Given the description of an element on the screen output the (x, y) to click on. 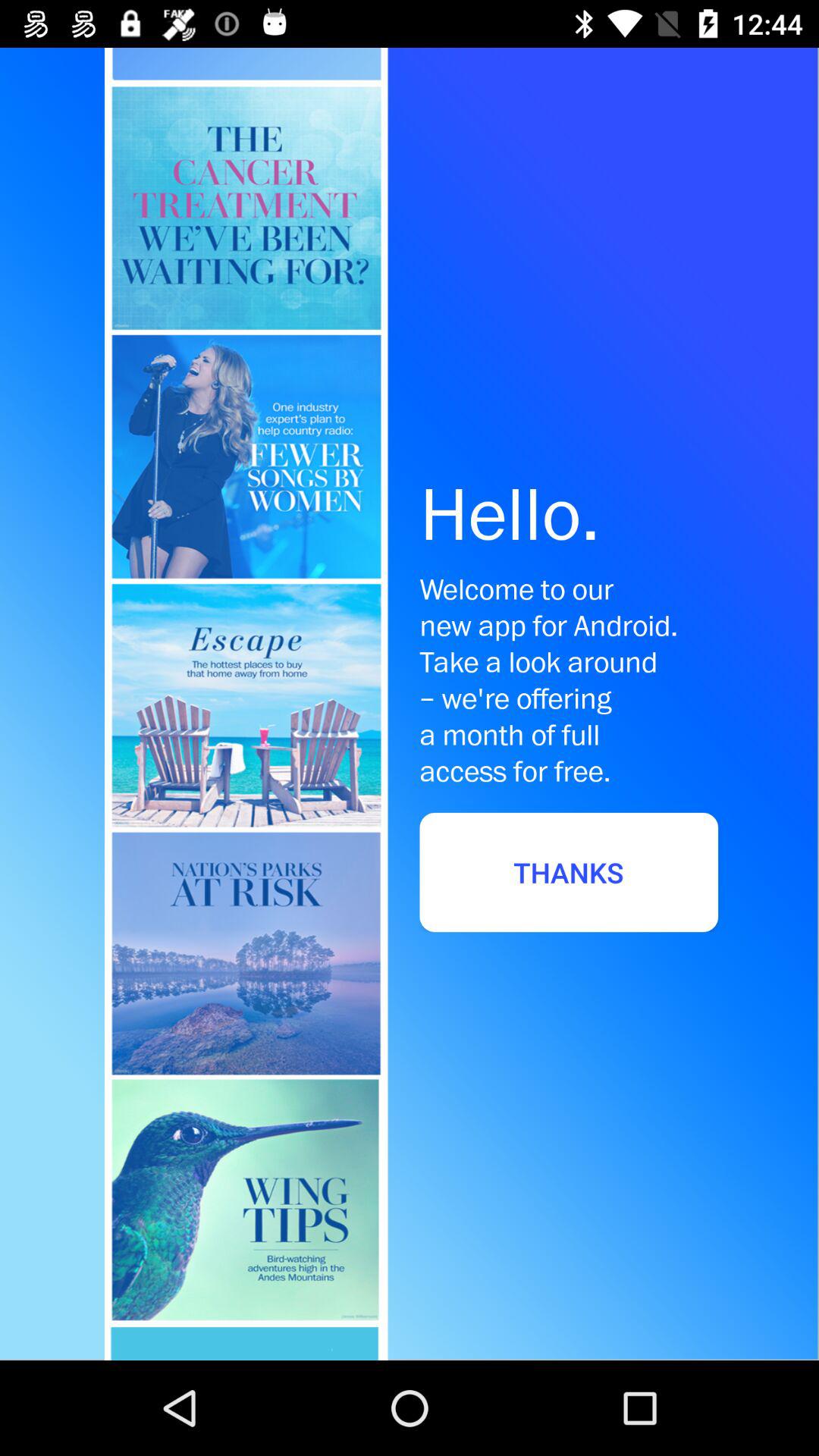
scroll to thanks button (568, 872)
